Given the description of an element on the screen output the (x, y) to click on. 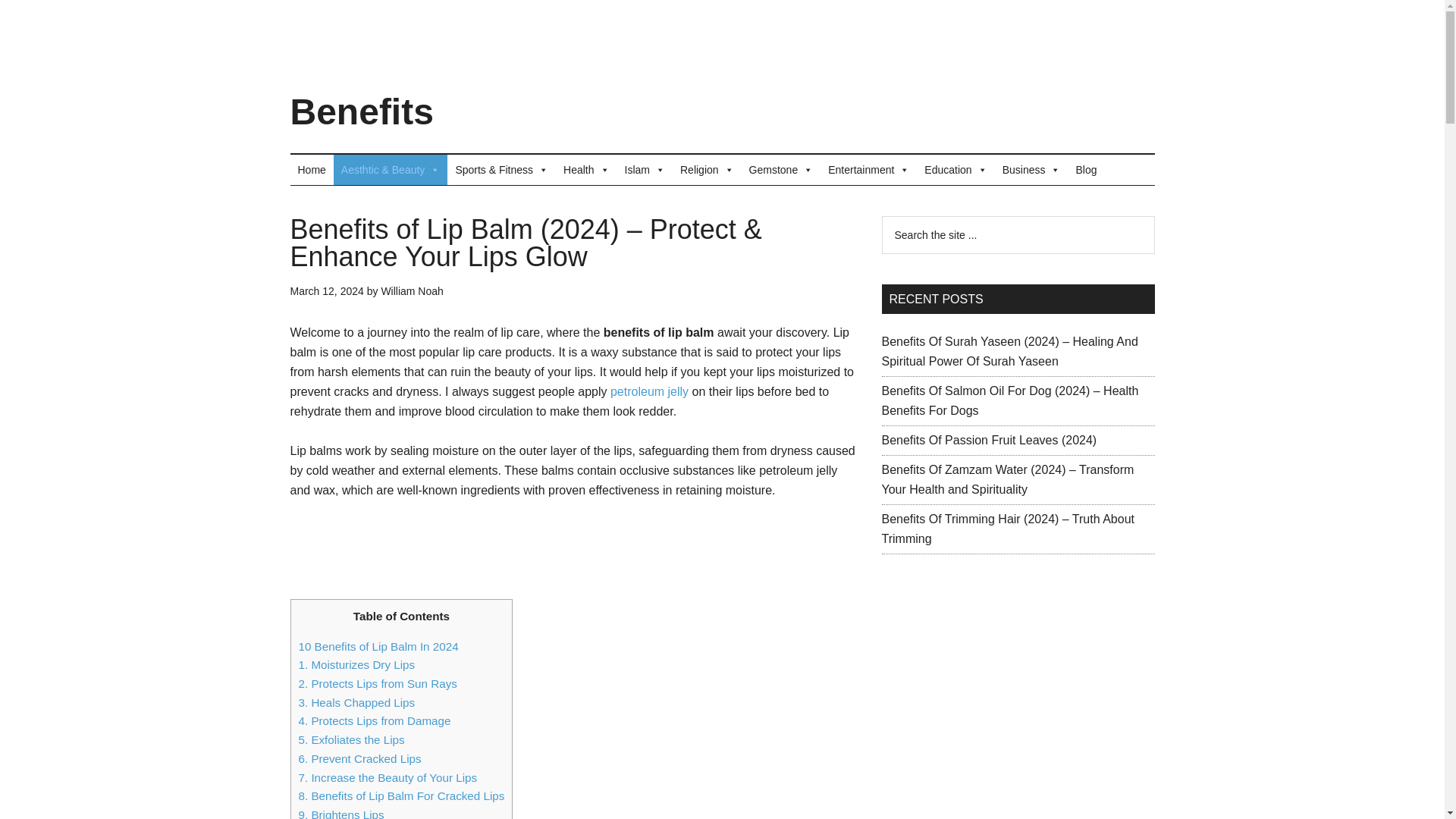
Religion (706, 169)
Gemstone (781, 169)
Health (585, 169)
Benefits (360, 111)
Islam (644, 169)
Home (311, 169)
